Given the description of an element on the screen output the (x, y) to click on. 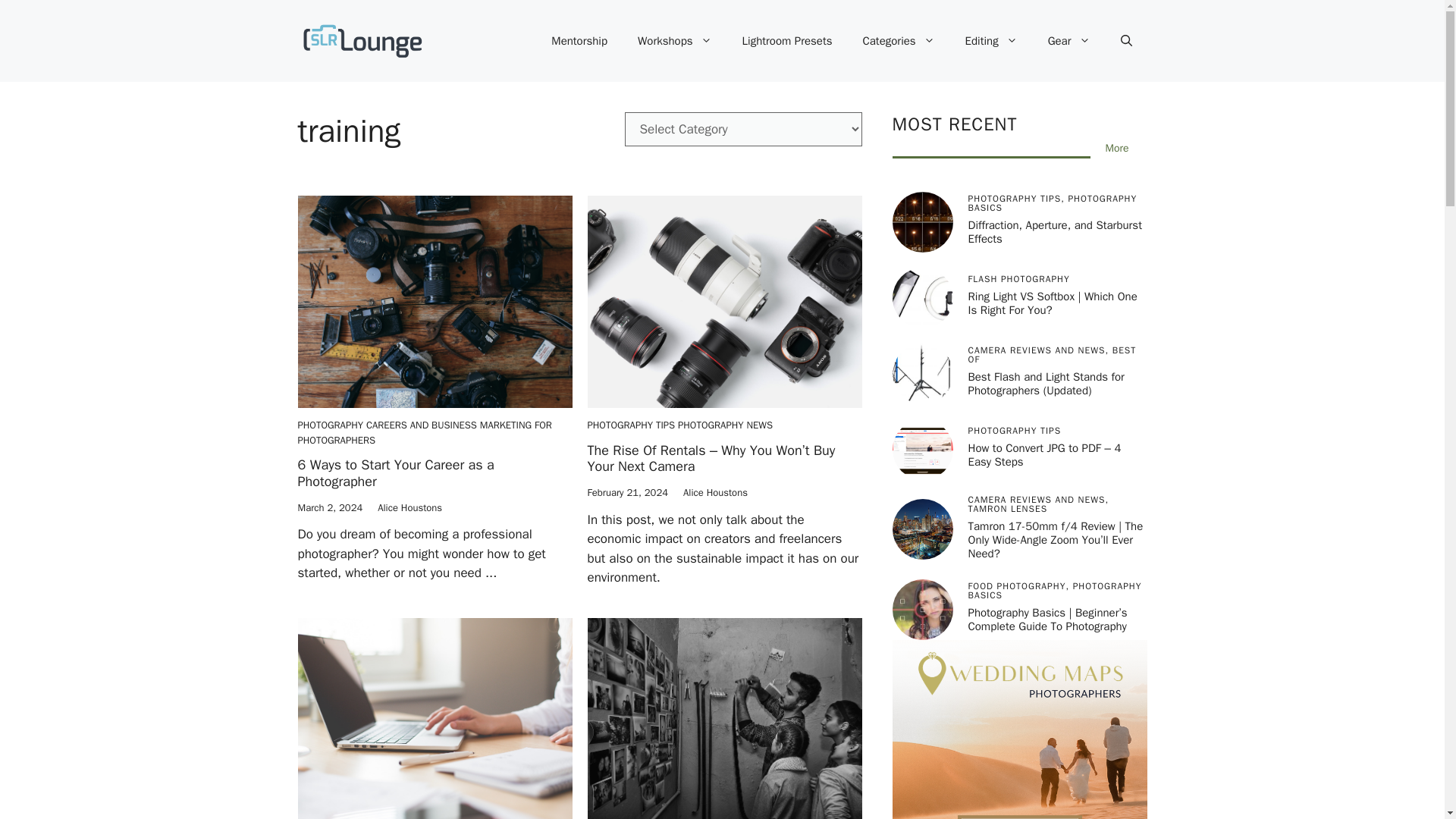
Mentorship (579, 40)
Workshops (674, 40)
Lightroom Presets (786, 40)
Editing (991, 40)
Gear (1068, 40)
PHOTOGRAPHY CAREERS AND BUSINESS (386, 424)
Categories (898, 40)
